Given the description of an element on the screen output the (x, y) to click on. 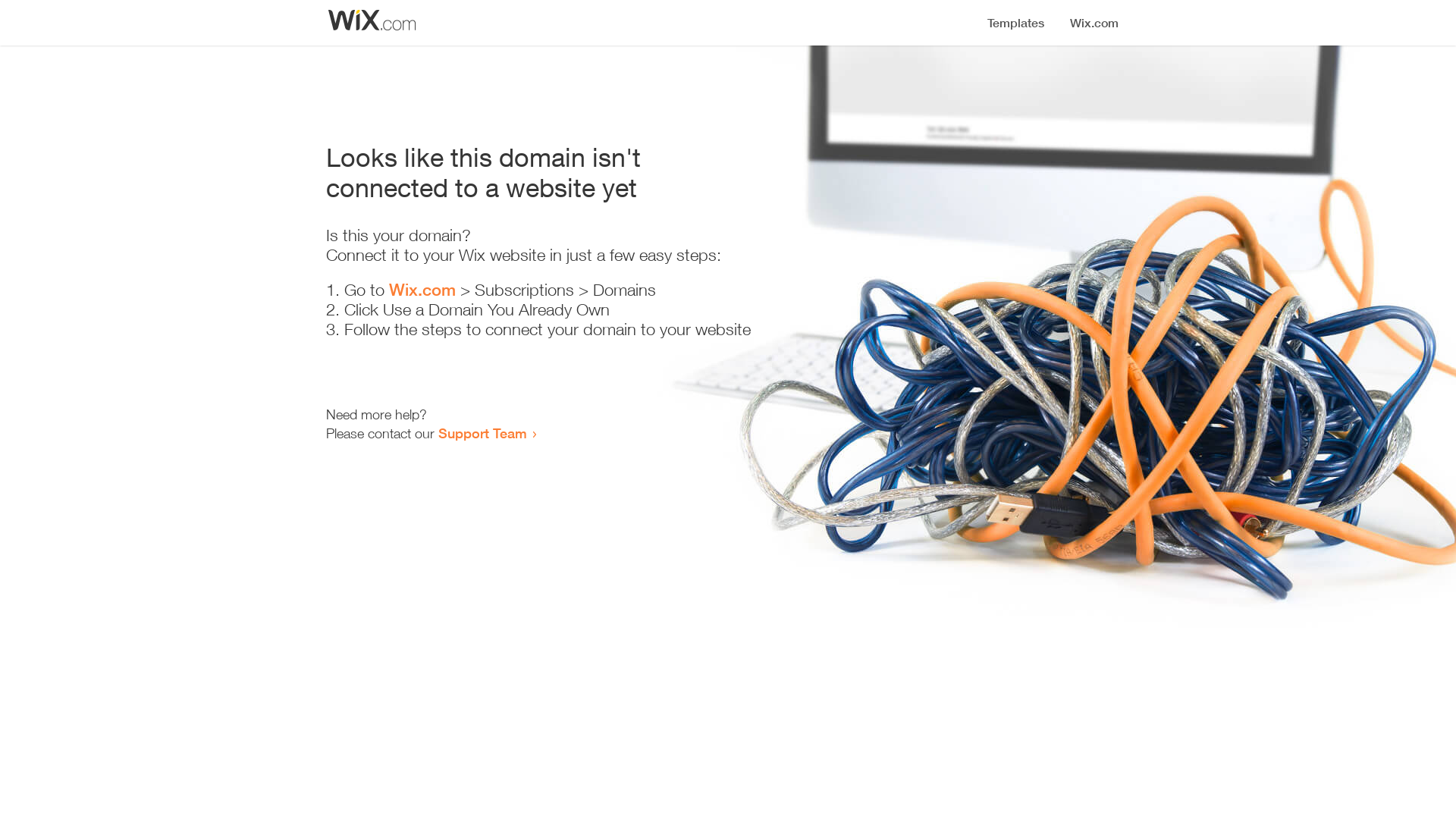
Support Team Element type: text (482, 432)
Wix.com Element type: text (422, 289)
